Given the description of an element on the screen output the (x, y) to click on. 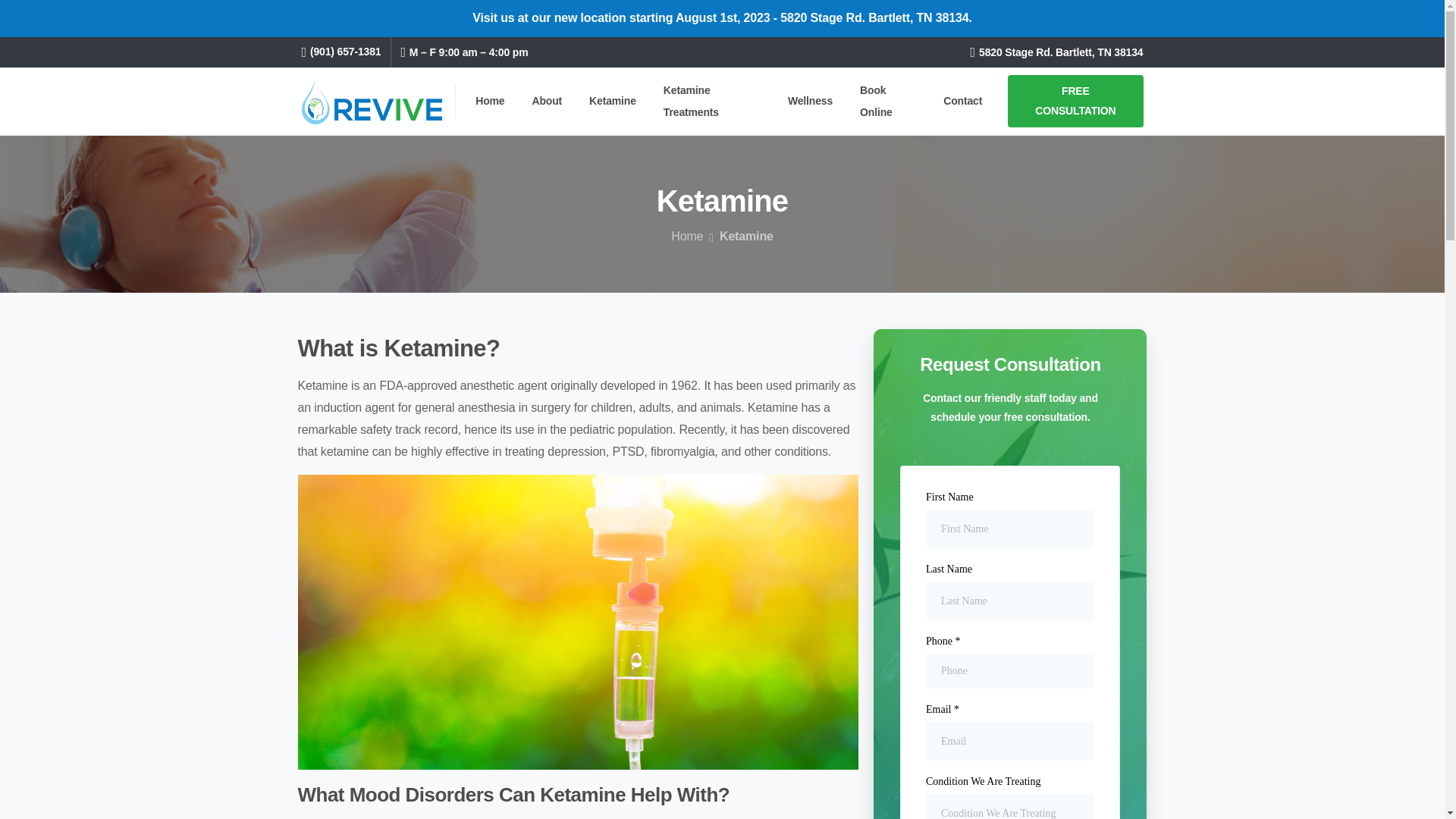
Contact (962, 100)
Home (489, 100)
Ketamine Treatments (712, 101)
Home (489, 100)
Ketamine Treatments (712, 101)
Home (687, 237)
Ketamine (612, 100)
Wellness (809, 100)
About (546, 100)
About (546, 100)
Book Online (887, 101)
FREE CONSULTATION (1074, 100)
Ketamine (612, 100)
